Given the description of an element on the screen output the (x, y) to click on. 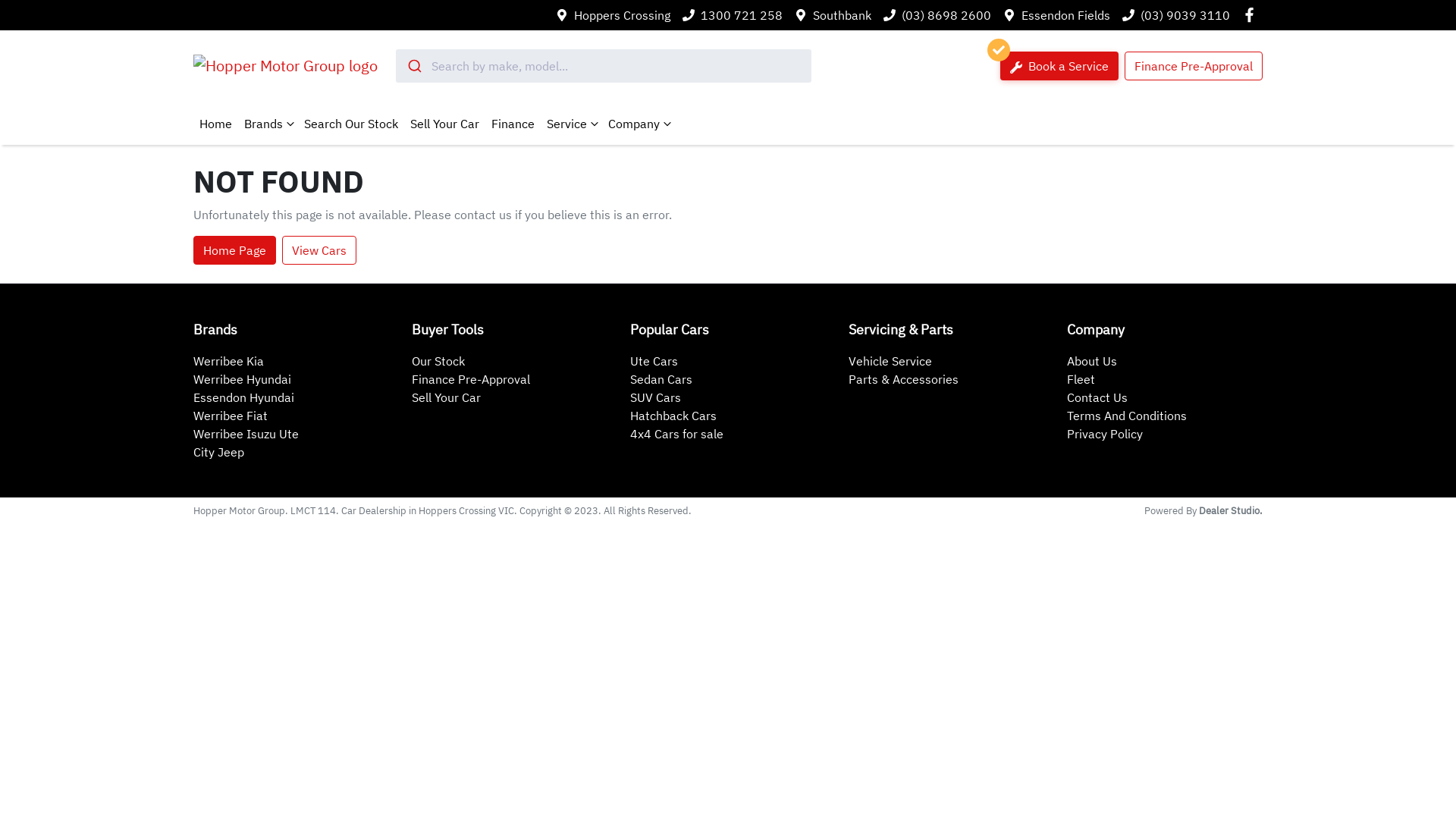
Home Page Element type: text (234, 249)
Sell Your Car Element type: text (445, 396)
(03) 8698 2600 Element type: text (946, 14)
Privacy Policy Element type: text (1104, 433)
1300 721 258 Element type: text (741, 14)
Search Our Stock Element type: text (351, 123)
Werribee Fiat Element type: text (230, 415)
Ute Cars Element type: text (653, 360)
Essendon Fields Element type: text (1065, 14)
Fleet Element type: text (1080, 378)
Hoppers Crossing Element type: text (622, 14)
Dealer Studio. Element type: text (1230, 510)
Parts & Accessories Element type: text (903, 378)
View Cars Element type: text (319, 249)
Finance Pre-Approval Element type: text (470, 378)
Our Stock Element type: text (437, 360)
Book a Service Element type: text (1059, 65)
Hatchback Cars Element type: text (673, 415)
(03) 9039 3110 Element type: text (1185, 14)
Essendon Hyundai Element type: text (243, 396)
Werribee Isuzu Ute Element type: text (245, 433)
SUV Cars Element type: text (655, 396)
Sedan Cars Element type: text (661, 378)
Sell Your Car Element type: text (444, 123)
Finance Pre-Approval Element type: text (1193, 65)
Submit Element type: hover (413, 65)
Werribee Hyundai Element type: text (242, 378)
Werribee Kia Element type: text (228, 360)
City Jeep Element type: text (218, 451)
Southbank Element type: text (841, 14)
Brands Element type: text (268, 123)
Contact Us Element type: text (1096, 396)
Company Element type: text (638, 123)
4x4 Cars for sale Element type: text (676, 433)
About Us Element type: text (1091, 360)
Finance Element type: text (512, 123)
Terms And Conditions Element type: text (1126, 415)
Vehicle Service Element type: text (889, 360)
Home Element type: text (215, 123)
Service Element type: text (571, 123)
